Given the description of an element on the screen output the (x, y) to click on. 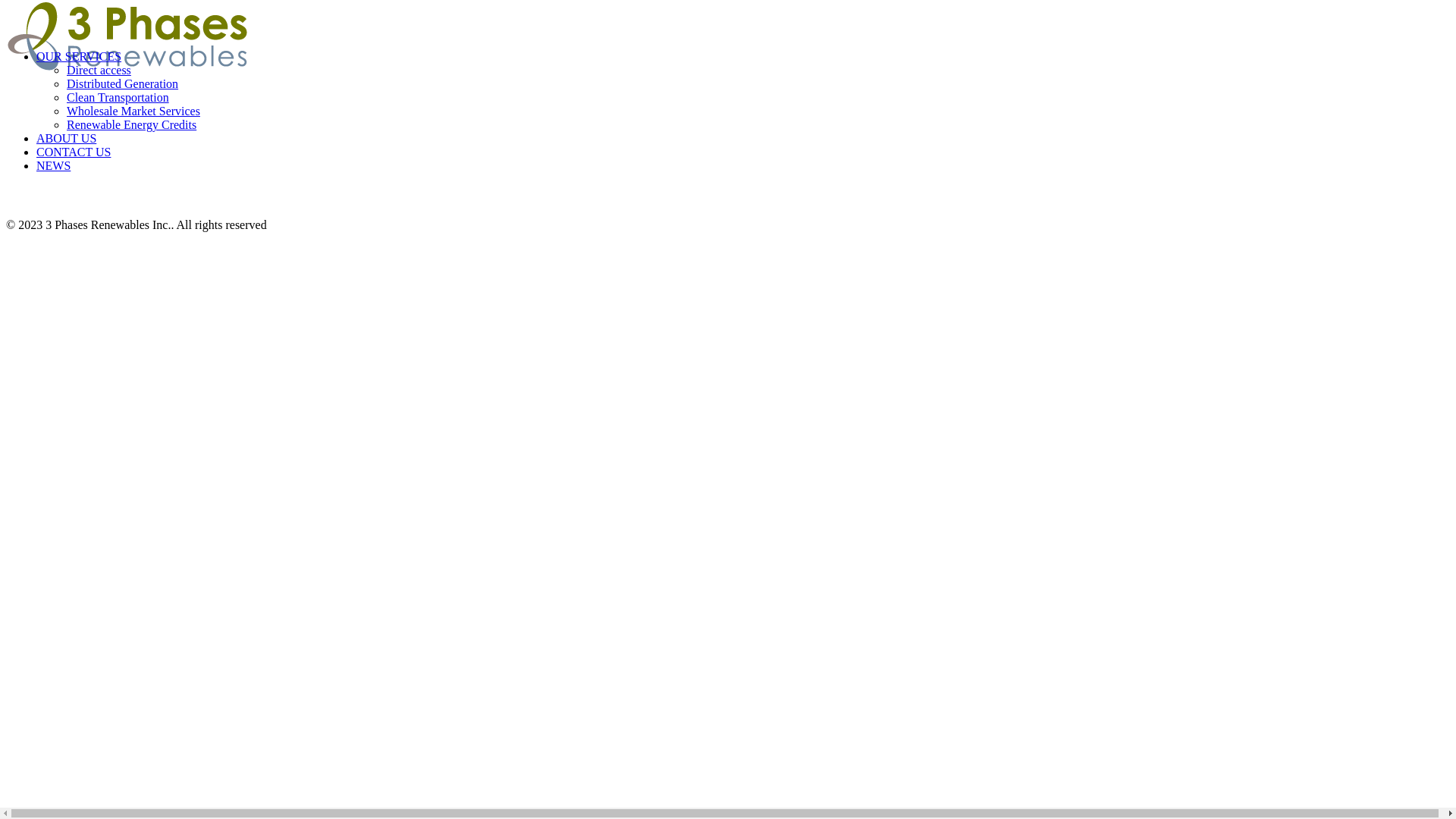
Distributed Generation Element type: text (122, 83)
IN THE NEWS Element type: text (733, 147)
Wholesale Market Services Element type: text (133, 110)
CONTACT US Element type: text (73, 151)
CAREERS Element type: text (733, 121)
CONTACT US Element type: text (733, 198)
Renewable Energy Credits Element type: text (131, 124)
NEWS Element type: text (53, 165)
OUR SERVICES Element type: text (78, 56)
Direct access Element type: text (98, 69)
CONTACT US Element type: text (733, 95)
FAQ Element type: text (734, 69)
FAQ Element type: text (734, 172)
CAREERS Element type: text (733, 18)
IN THE NEWS Element type: text (733, 43)
ABOUT US Element type: text (66, 137)
Clean Transportation Element type: text (117, 97)
